Given the description of an element on the screen output the (x, y) to click on. 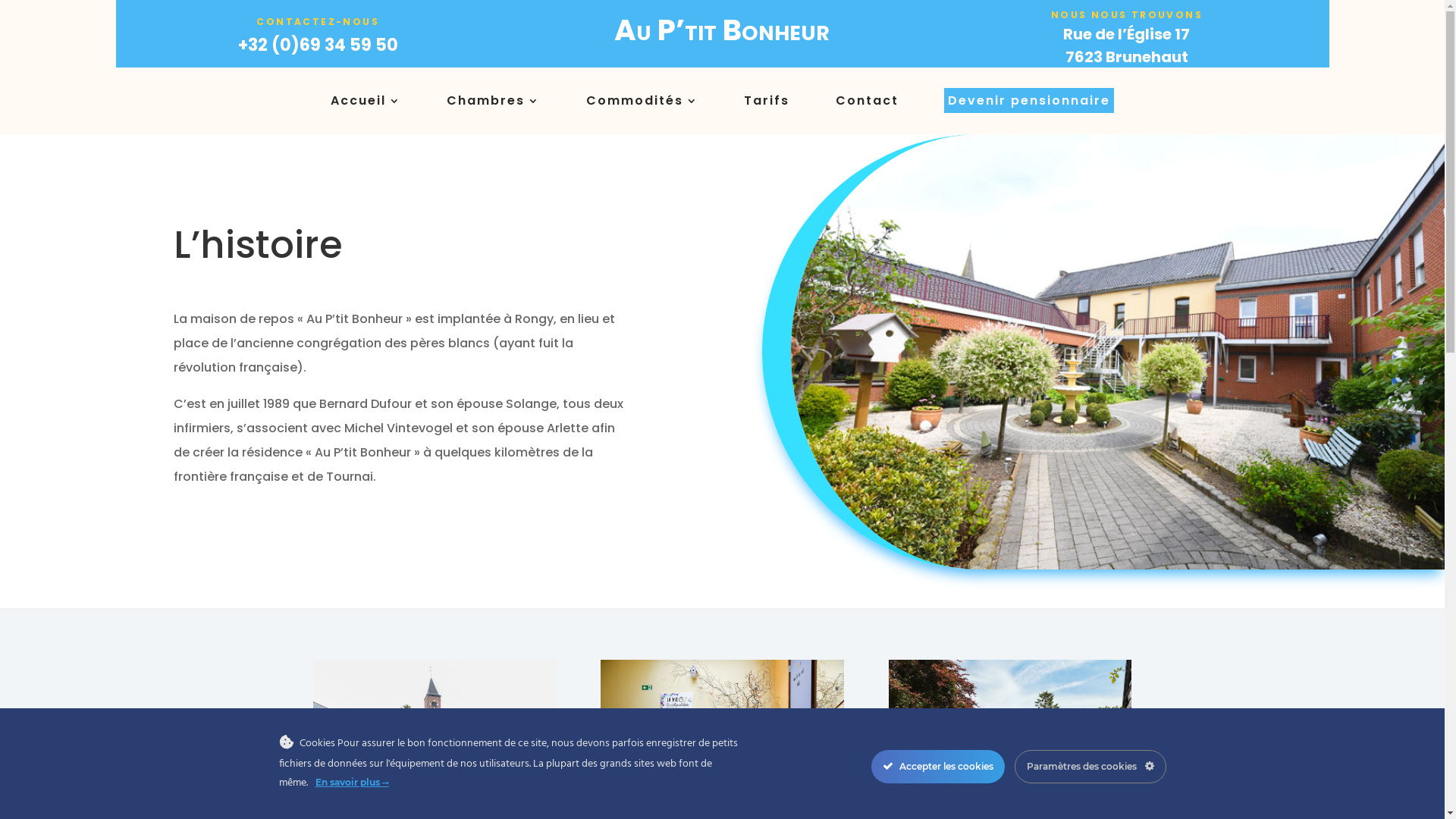
Tarifs Element type: text (766, 103)
maisonrepos Element type: hover (1117, 351)
Accueil Element type: text (365, 103)
Contact Element type: text (866, 103)
Chambres Element type: text (492, 103)
Devenir pensionnaire Element type: text (1028, 103)
